Given the description of an element on the screen output the (x, y) to click on. 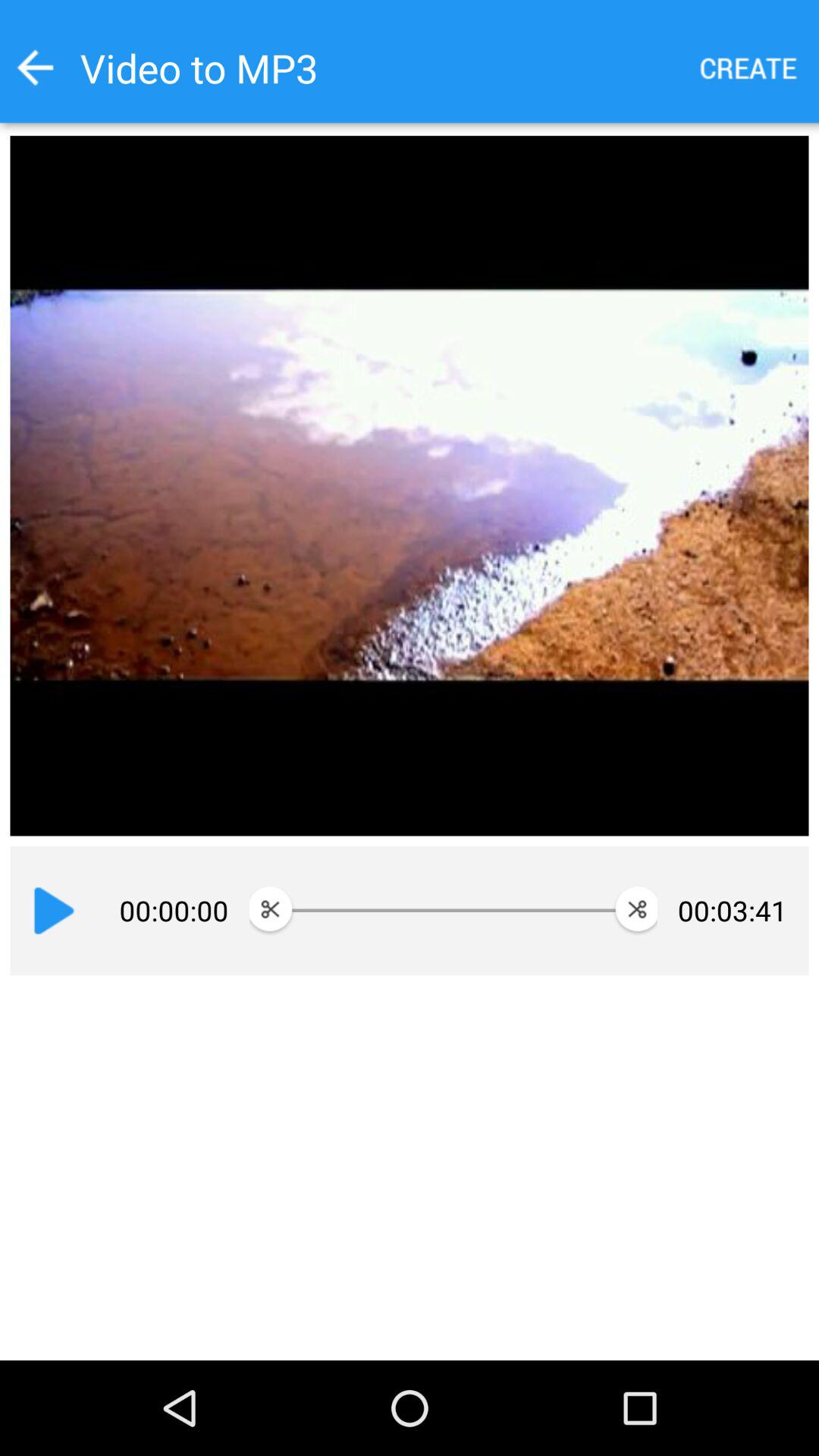
toggle create option (749, 67)
